Given the description of an element on the screen output the (x, y) to click on. 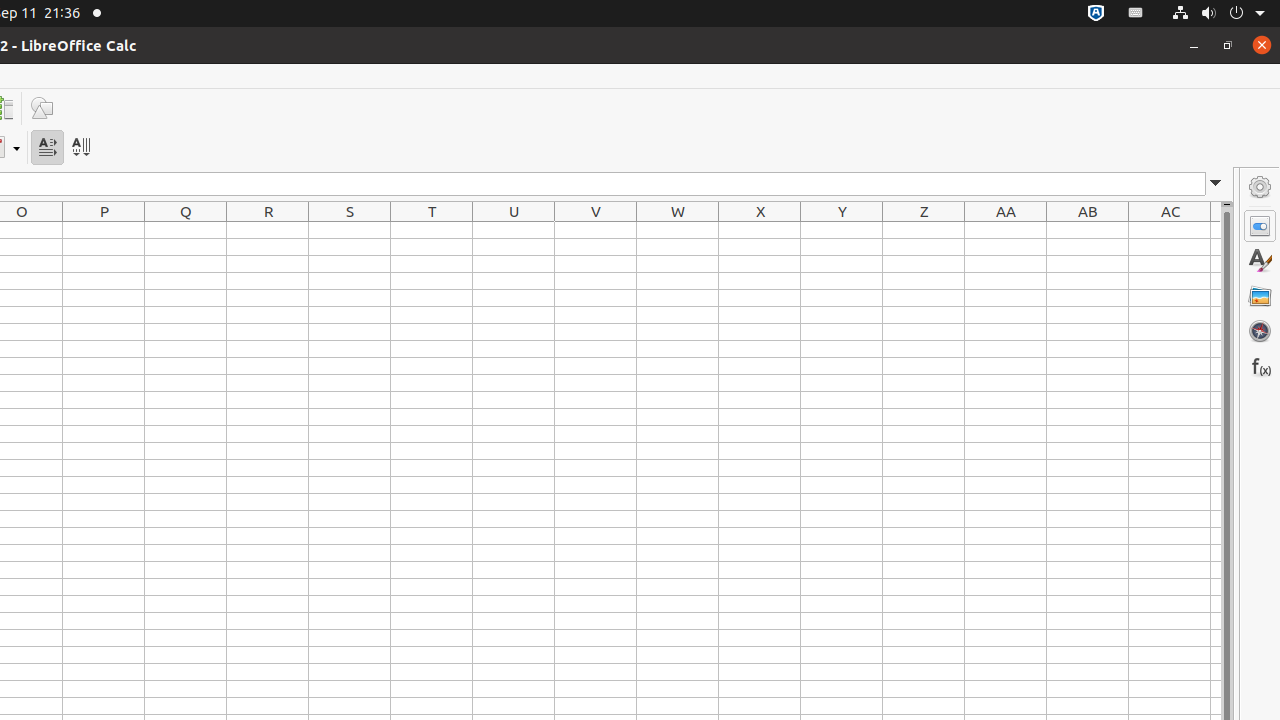
Navigator Element type: radio-button (1260, 331)
Y1 Element type: table-cell (842, 230)
Expand Formula Bar Element type: push-button (1216, 183)
V1 Element type: table-cell (596, 230)
Text direction from left to right Element type: toggle-button (47, 147)
